Given the description of an element on the screen output the (x, y) to click on. 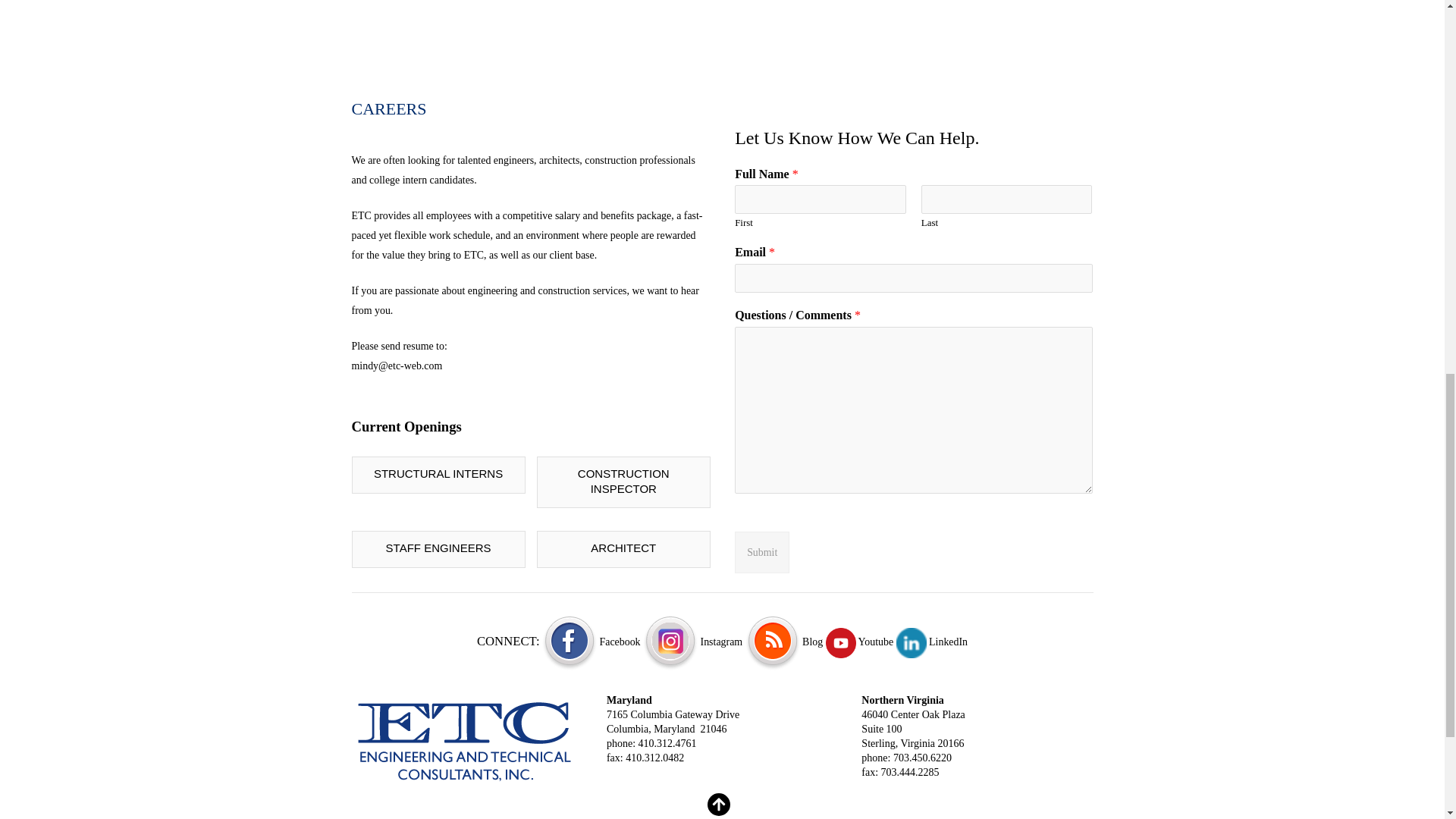
LinkedIn (932, 641)
Contact Us (465, 739)
Instagram (692, 641)
Facebook (590, 641)
Youtube Channel (859, 641)
Blog (784, 641)
